Given the description of an element on the screen output the (x, y) to click on. 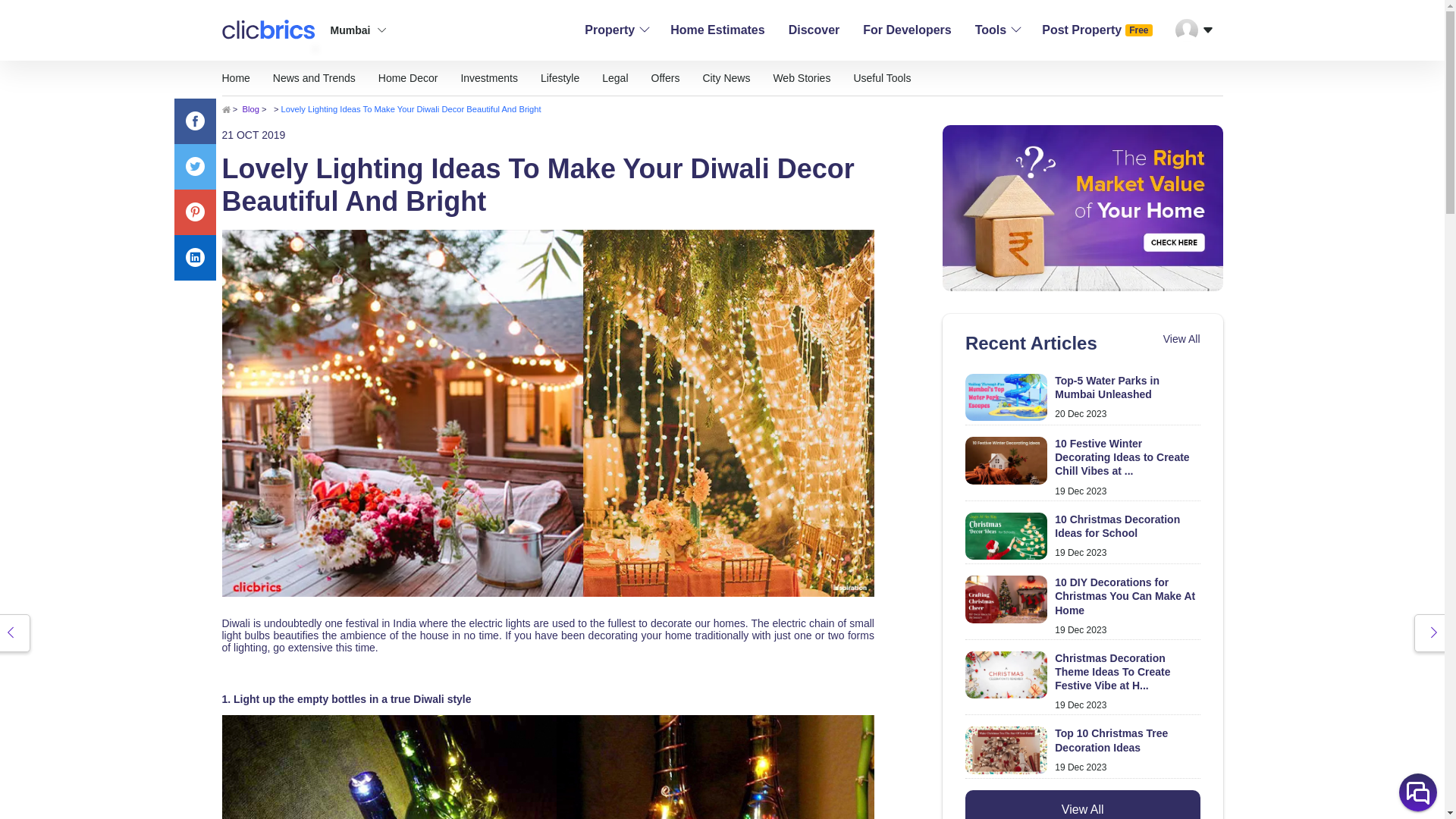
Home Estimates (717, 29)
For Developers (1082, 399)
Blog (906, 29)
